Given the description of an element on the screen output the (x, y) to click on. 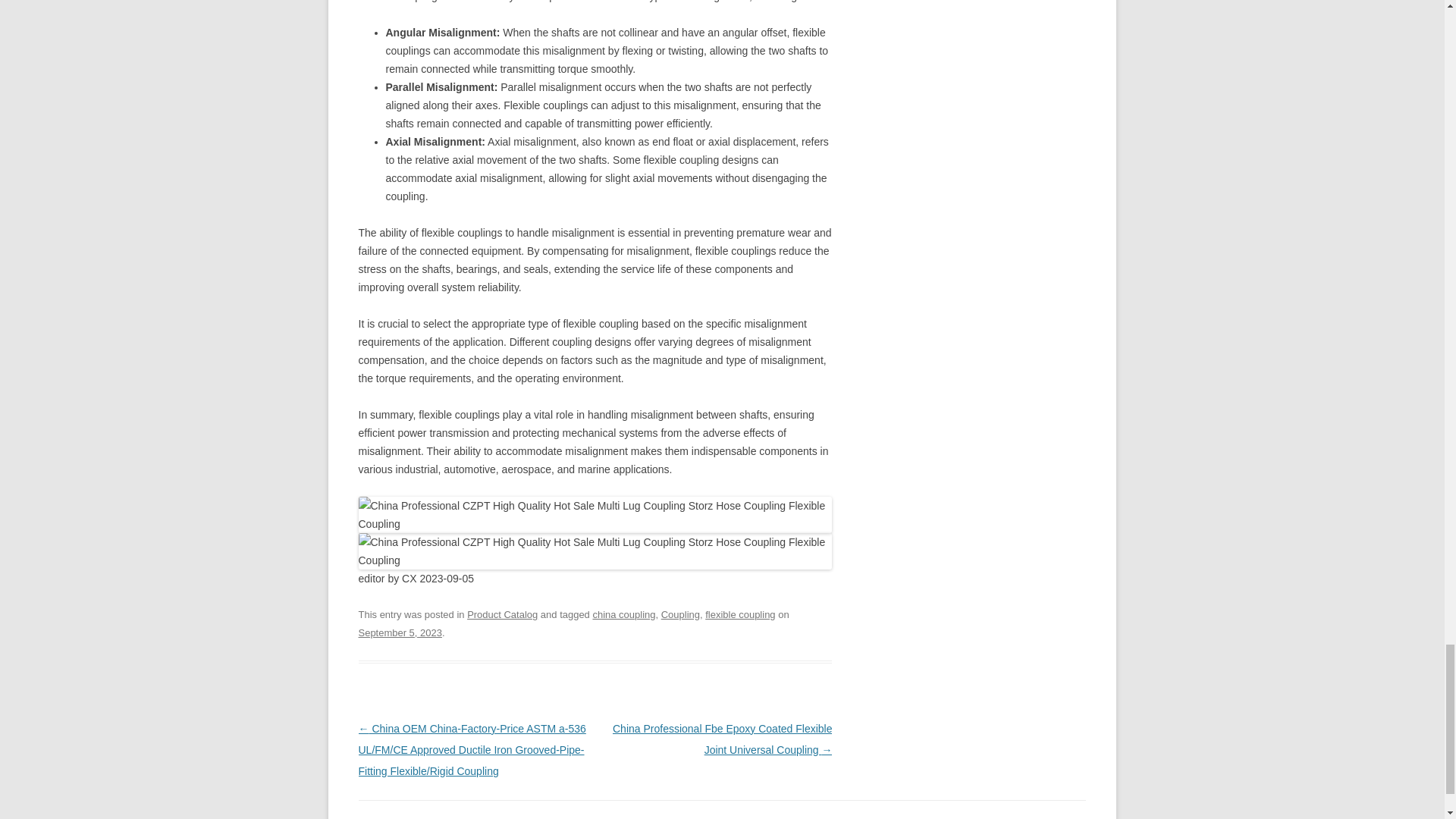
Coupling (680, 614)
September 5, 2023 (399, 632)
1:23 am (399, 632)
china coupling (623, 614)
flexible coupling (739, 614)
Product Catalog (502, 614)
